Given the description of an element on the screen output the (x, y) to click on. 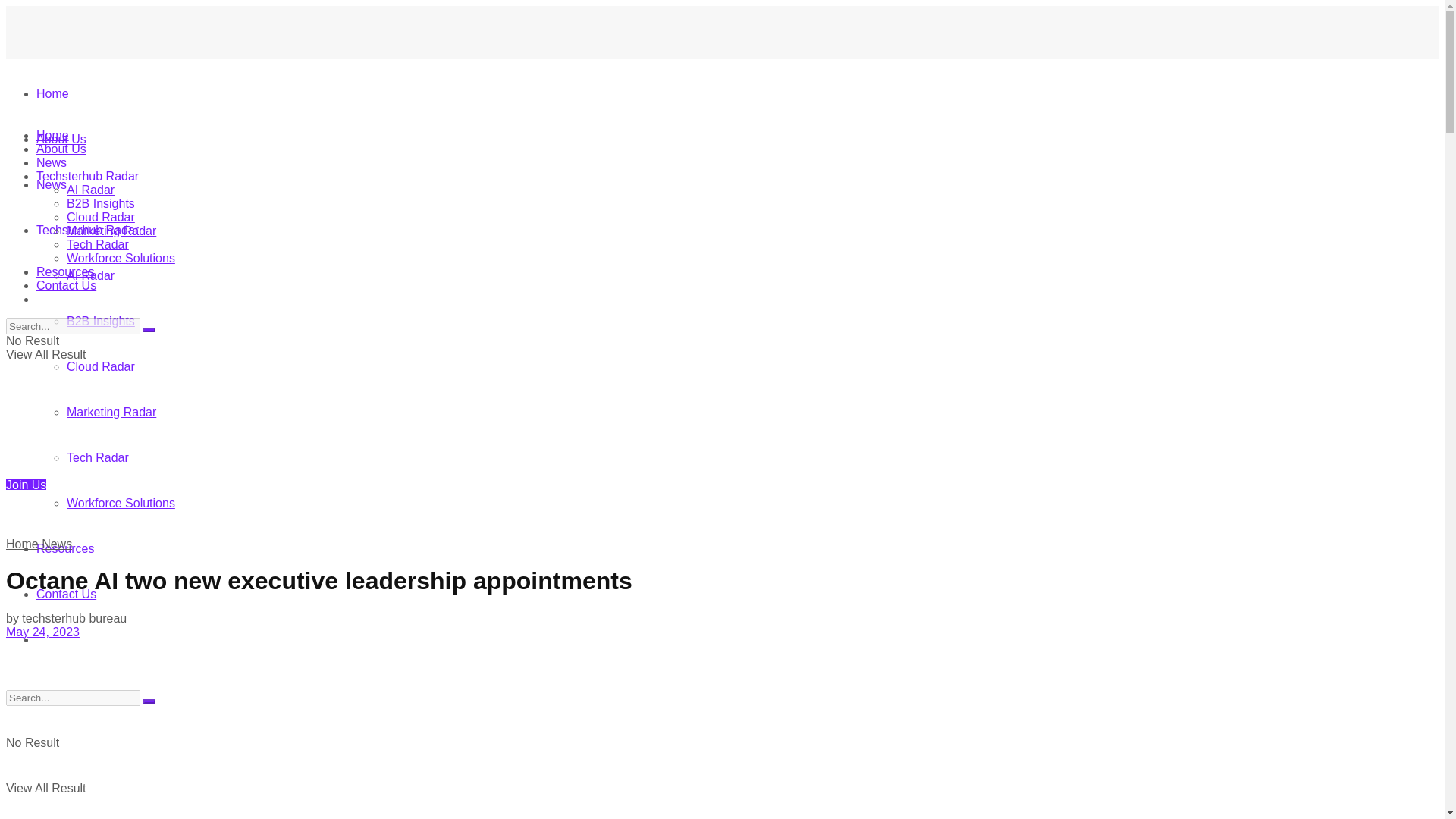
AI Radar (90, 189)
Workforce Solutions (120, 502)
About Us (60, 148)
Contact Us (66, 594)
News (51, 184)
May 24, 2023 (42, 631)
Contact Us (66, 285)
B2B Insights (100, 320)
Marketing Radar (110, 230)
News (56, 543)
